Given the description of an element on the screen output the (x, y) to click on. 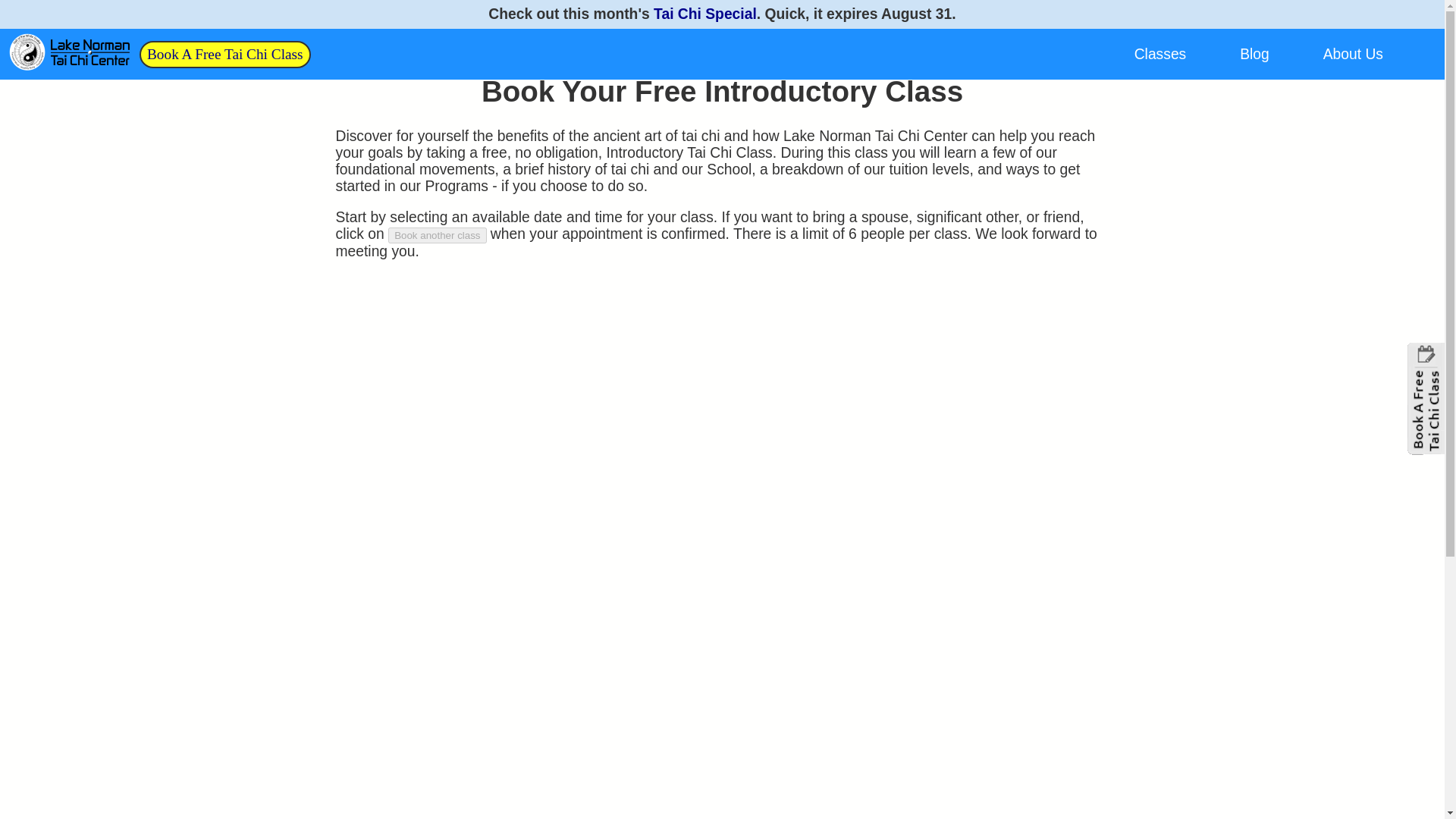
Tai Chi Special (705, 13)
About Us (1353, 53)
Blog (1254, 53)
Book a free Introductory Tai Chi class (224, 53)
Book another class (437, 235)
Book A Free Tai Chi Class (224, 53)
Classes (1160, 53)
